Given the description of an element on the screen output the (x, y) to click on. 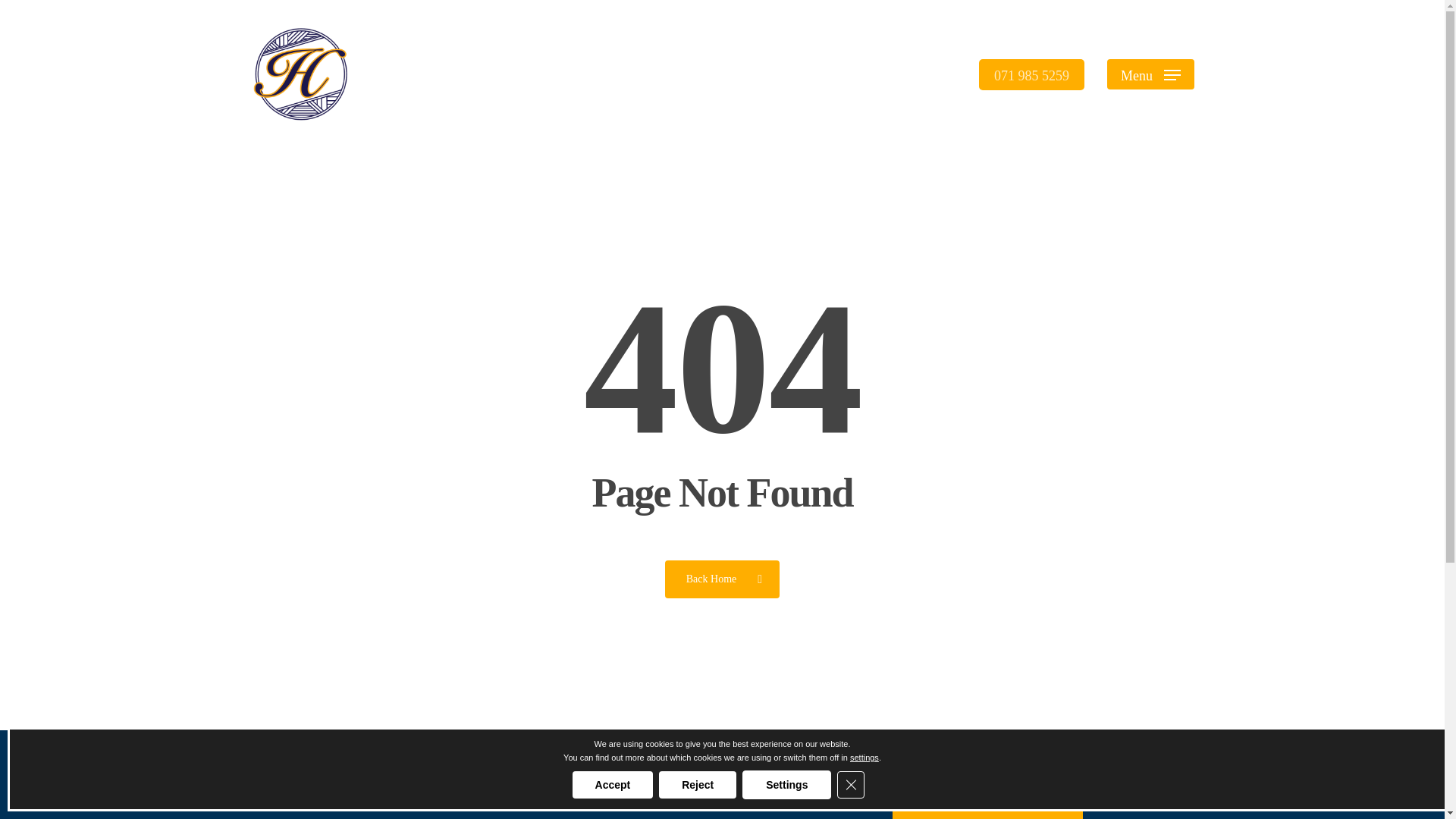
Back Home (721, 578)
Make a Payment (987, 801)
Menu (1149, 74)
071 985 5259 (1031, 74)
